Given the description of an element on the screen output the (x, y) to click on. 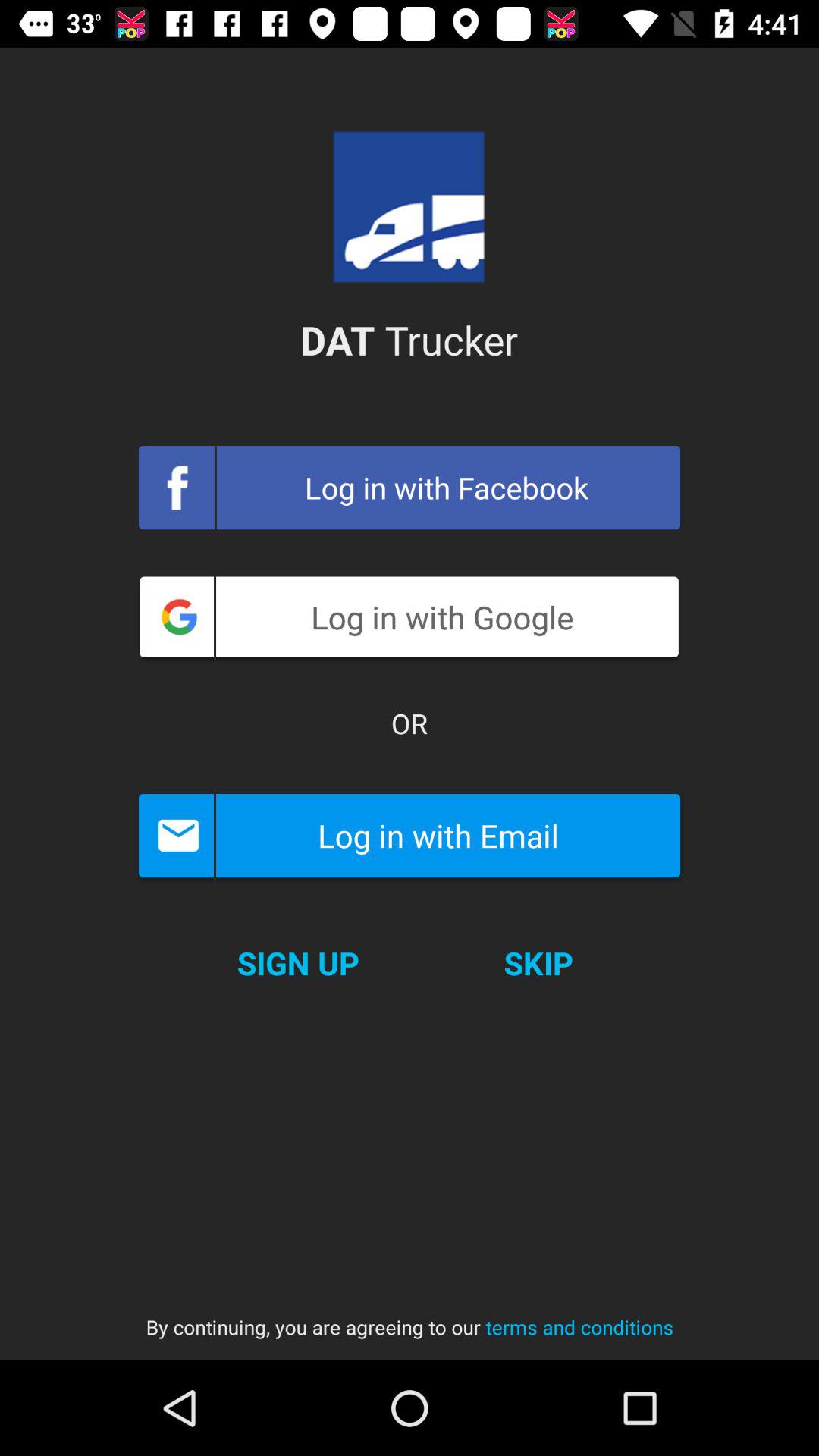
click the icon next to the sign up item (538, 962)
